Given the description of an element on the screen output the (x, y) to click on. 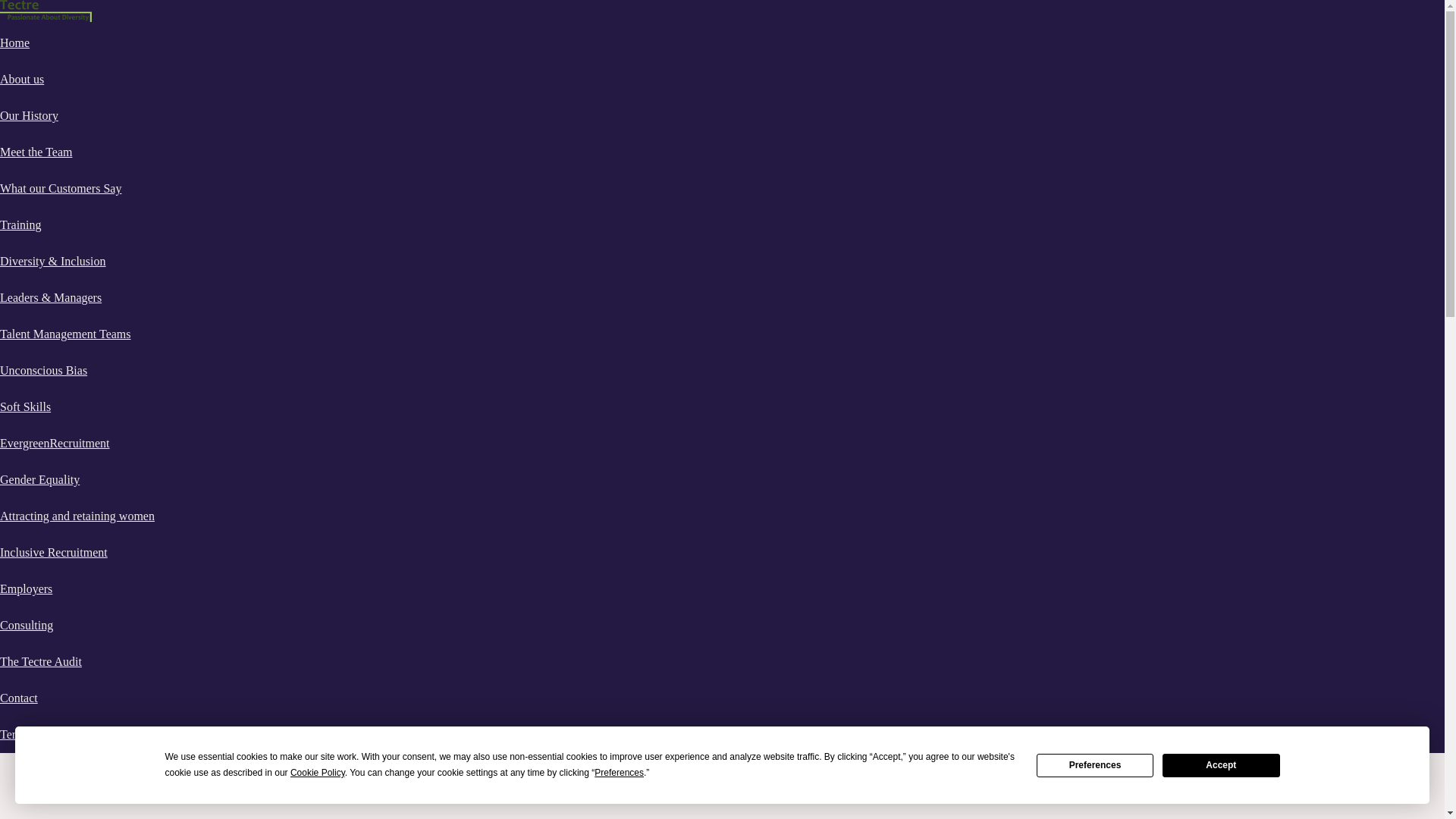
Home (14, 42)
Contact (18, 697)
About us (21, 78)
Soft Skills (25, 406)
Preferences (1094, 765)
Inclusive Recruitment (53, 552)
Terms and Conditions (53, 734)
Meet the Team (35, 151)
Training (21, 224)
About us (21, 78)
Training (21, 224)
Terms and Conditions (53, 734)
Unconscious Bias (43, 369)
EvergreenRecruitment (55, 442)
Talent Management Teams (65, 333)
